Given the description of an element on the screen output the (x, y) to click on. 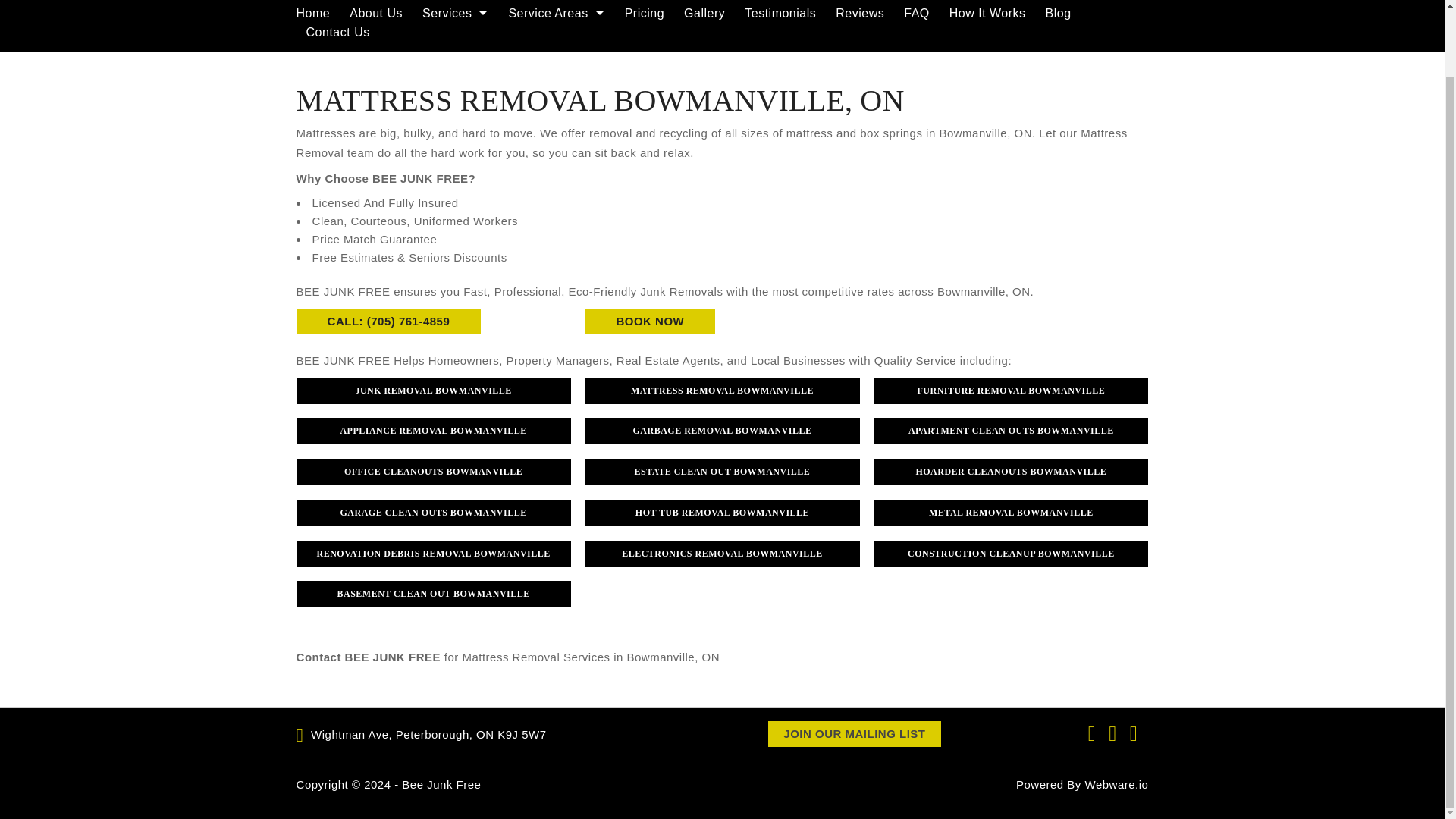
Service Areas (555, 13)
Home (318, 13)
About Us (375, 13)
Services (454, 13)
